Given the description of an element on the screen output the (x, y) to click on. 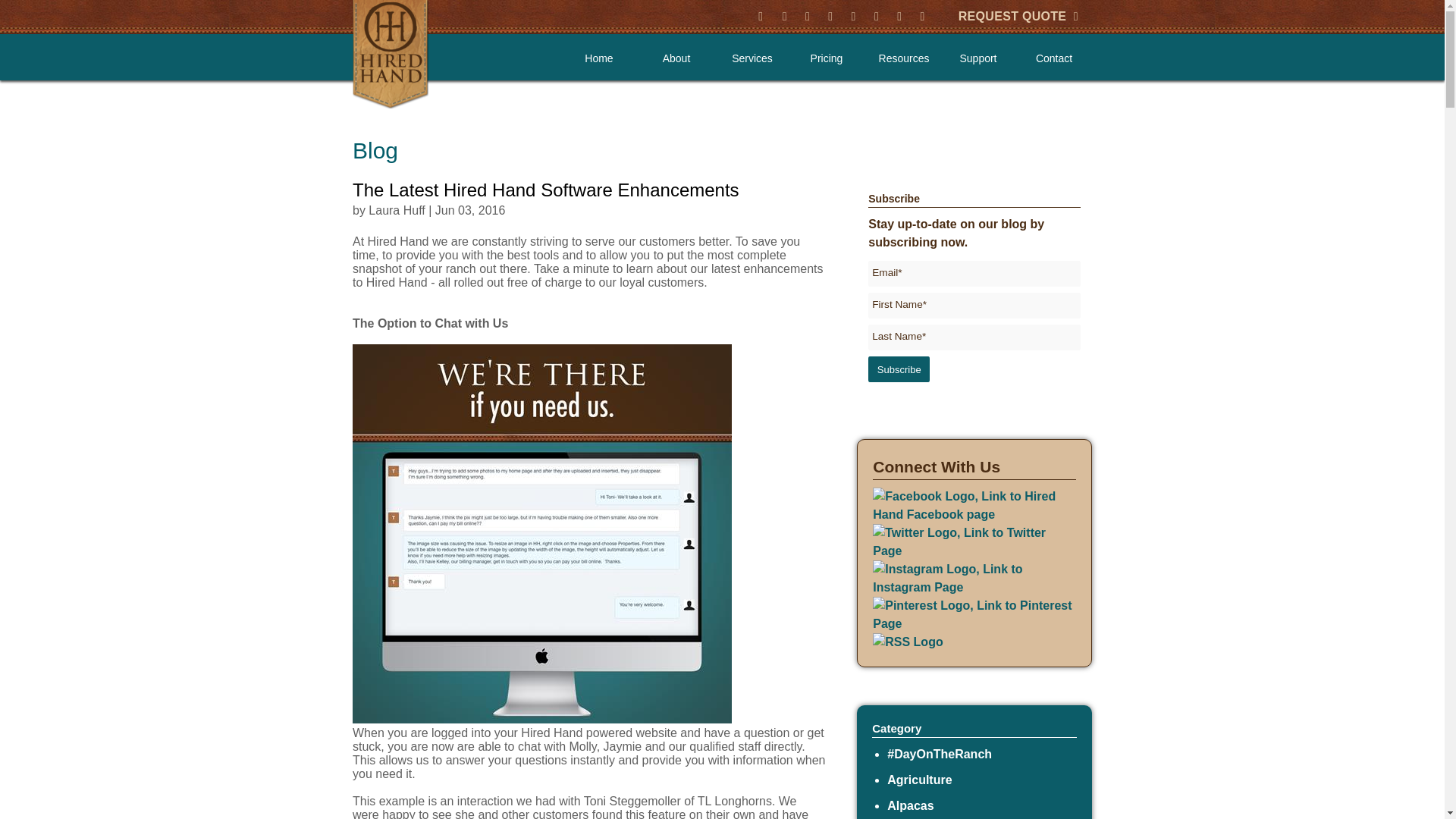
Instagram Logo (973, 577)
Subscribe (898, 369)
RSS Logo (907, 641)
REQUEST QUOTE   (1018, 15)
Twitter Logo (973, 541)
Pinterest Logo (973, 614)
Facebook Logo (973, 504)
